Given the description of an element on the screen output the (x, y) to click on. 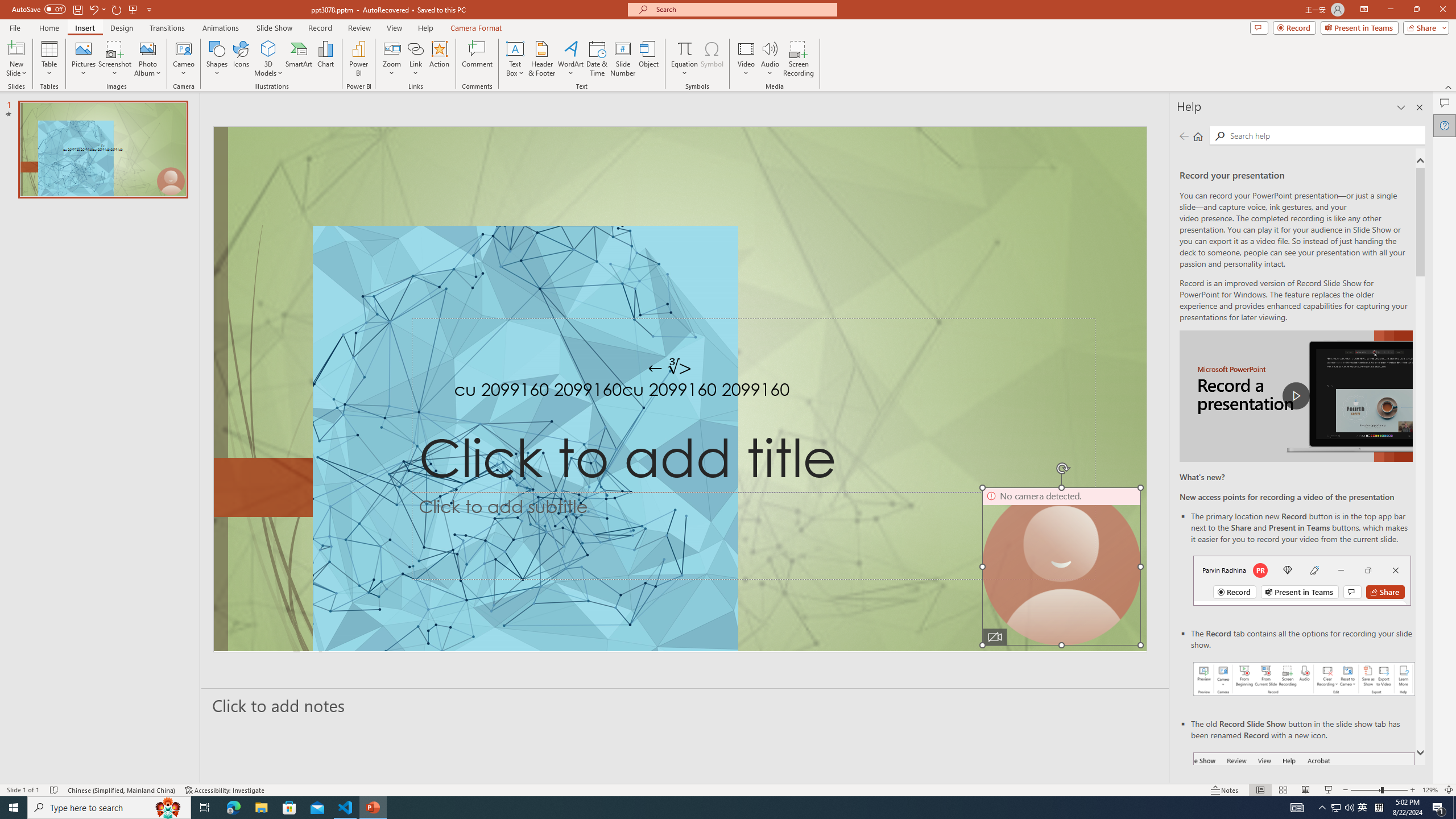
Icons (240, 58)
SmartArt... (298, 58)
Video (745, 58)
Camera Format (475, 28)
